Given the description of an element on the screen output the (x, y) to click on. 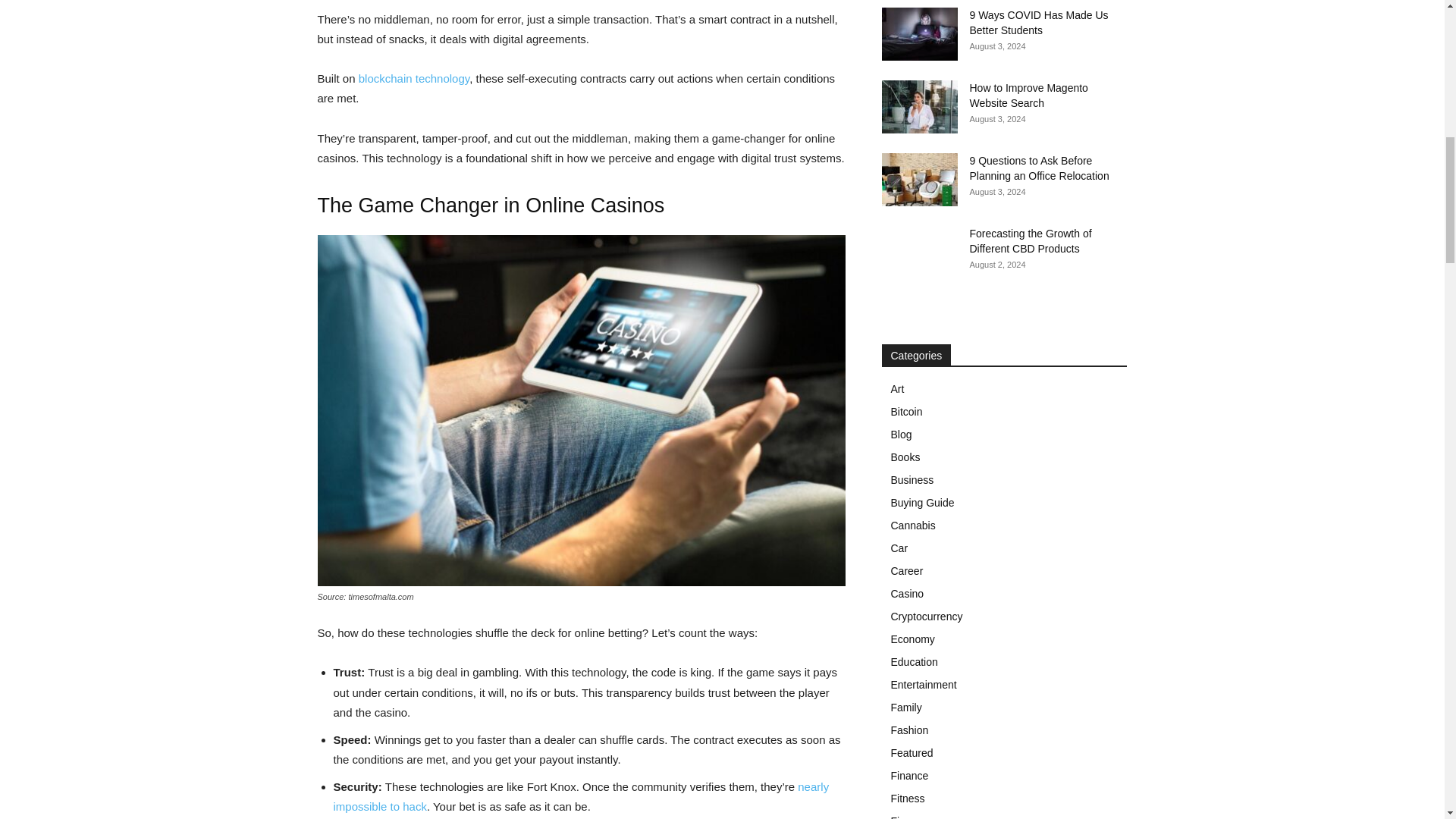
blockchain technology (413, 78)
nearly impossible to hack (581, 796)
